Given the description of an element on the screen output the (x, y) to click on. 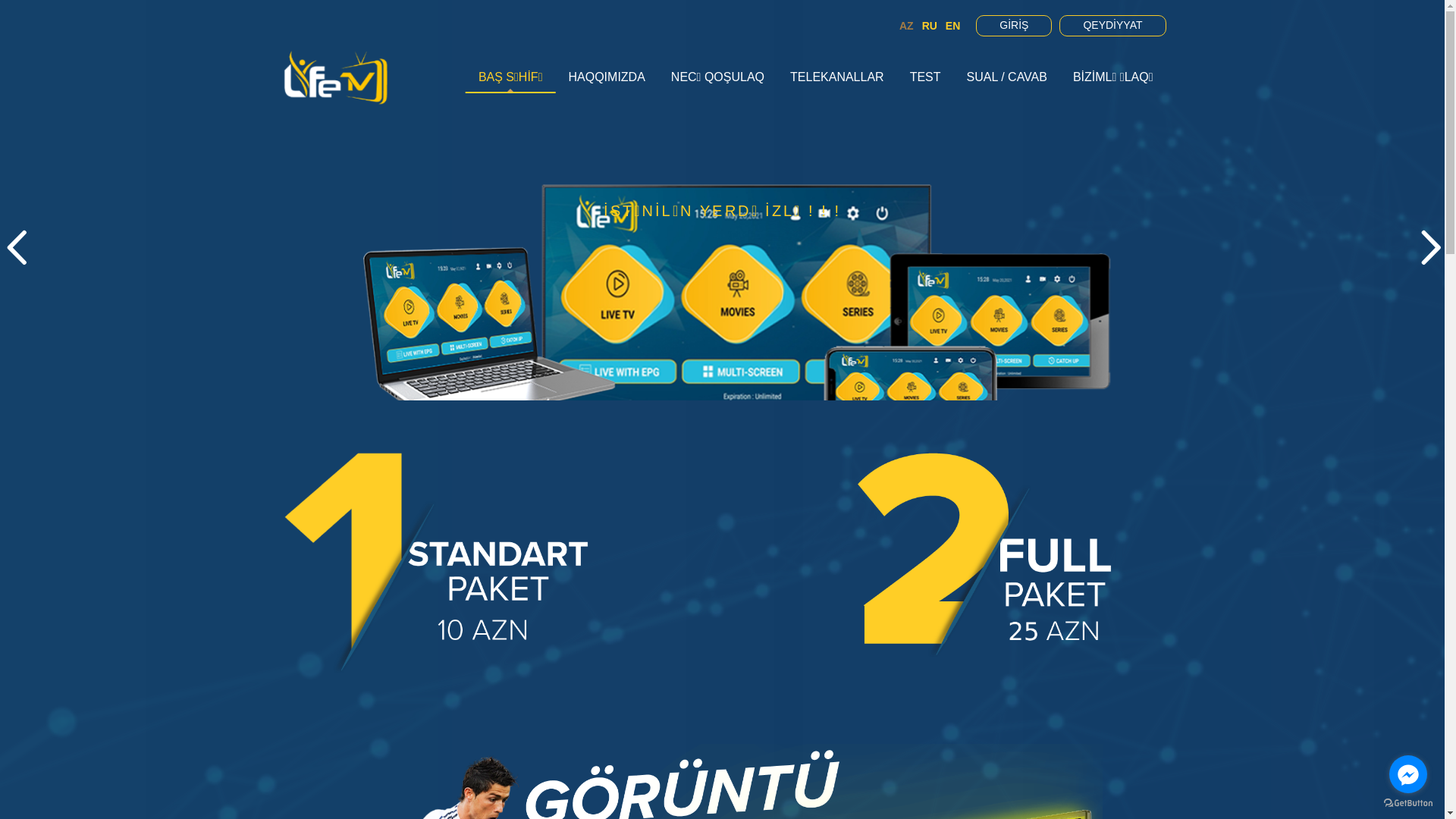
TEST Element type: text (925, 77)
SUAL / CAVAB Element type: text (1006, 77)
RU Element type: text (929, 25)
TELEKANALLAR Element type: text (837, 77)
LIFETV Element type: hover (335, 76)
HAQQIMIZDA Element type: text (606, 77)
AZ Element type: text (906, 25)
EN Element type: text (952, 25)
